Given the description of an element on the screen output the (x, y) to click on. 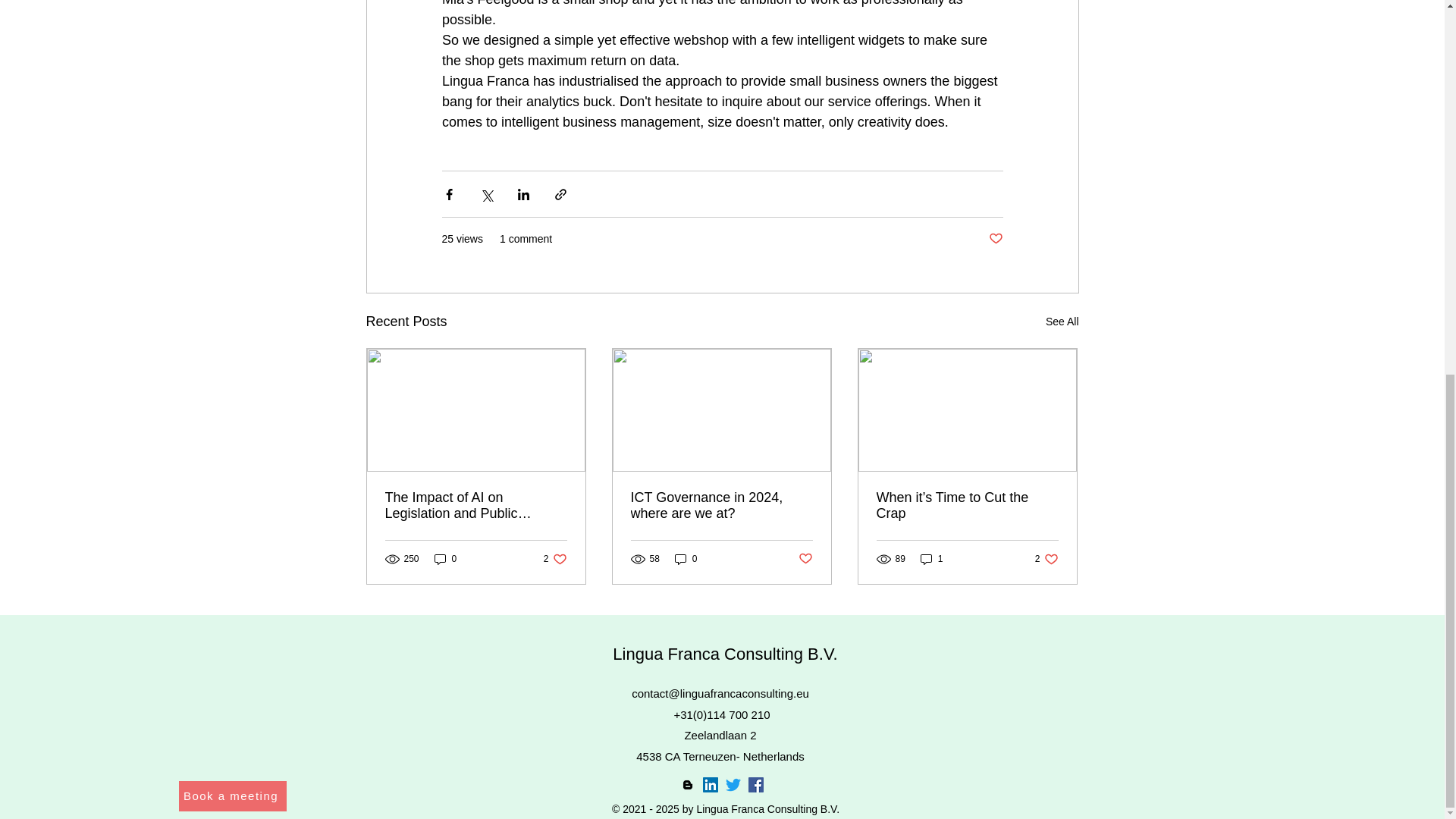
0 (685, 559)
ICT Governance in 2024, where are we at? (1046, 559)
Book a meeting (721, 505)
See All (232, 796)
The Impact of AI on Legislation and Public Service (1061, 321)
Lingua Franca Consulting B.V. (476, 505)
0 (555, 559)
Post not marked as liked (724, 653)
